Given the description of an element on the screen output the (x, y) to click on. 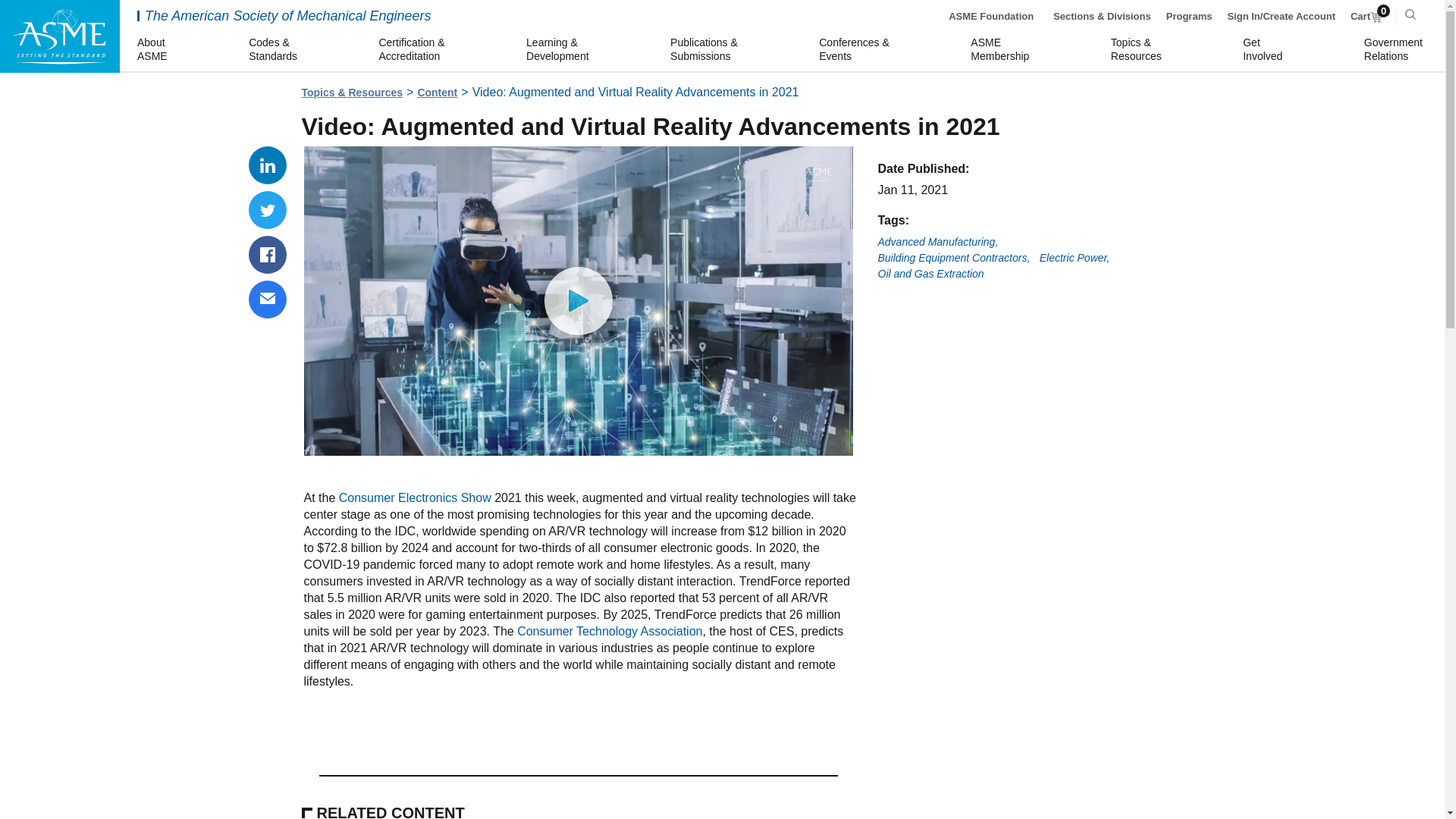
Oil and Gas Extraction (930, 273)
Programs (1189, 16)
Share via email (1265, 49)
Share on Twitter (267, 299)
Consumer Electronics Show (267, 209)
ASME Foundation (417, 497)
Consumer Technology Association (991, 16)
Building Equipment Contractors (608, 631)
Content (953, 257)
Advanced Manufacturing (436, 92)
Share on LinkedIn (1366, 16)
Share on Facebook (937, 241)
